Given the description of an element on the screen output the (x, y) to click on. 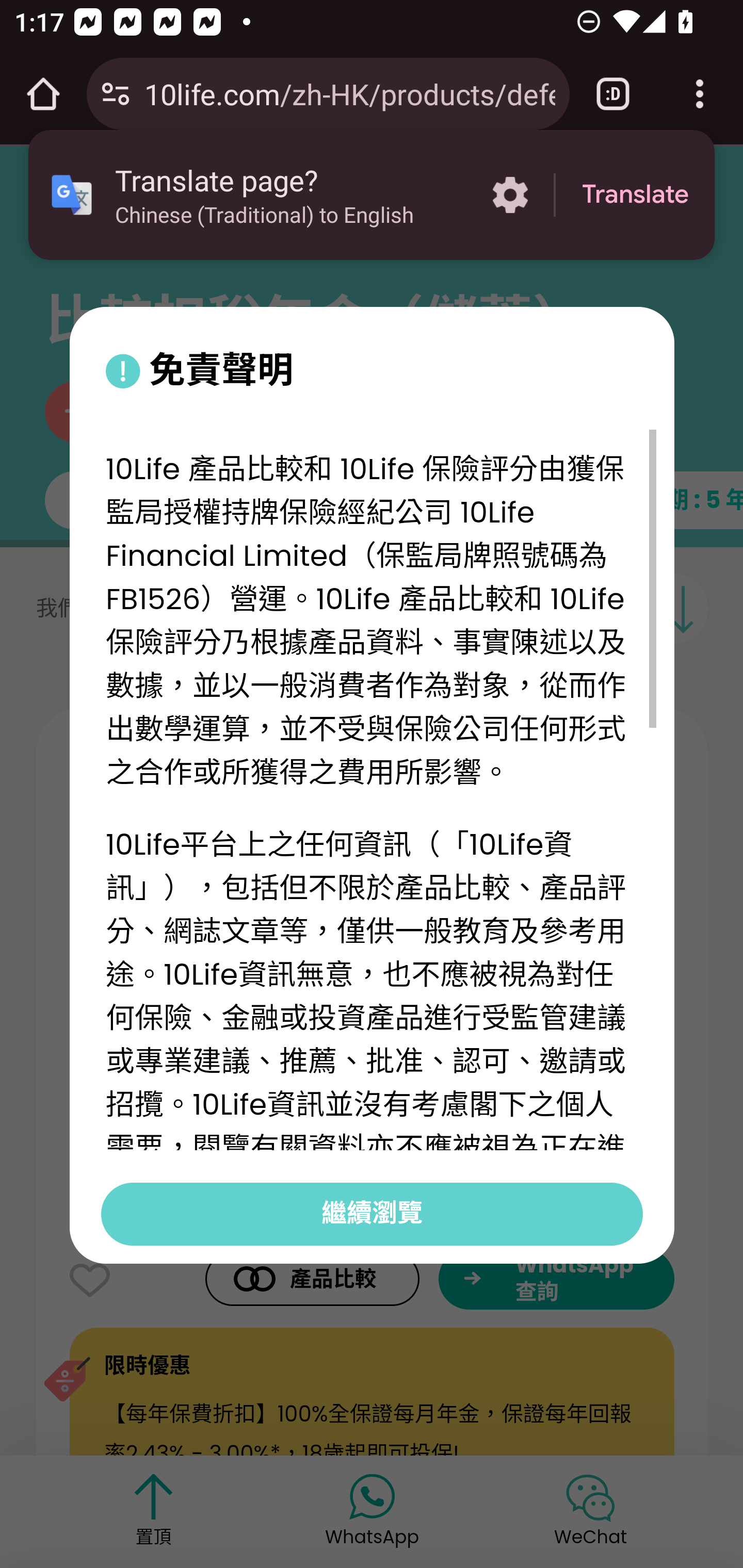
Open the home page (43, 93)
Connection is secure (115, 93)
Switch or close tabs (612, 93)
Customize and control Google Chrome (699, 93)
Translate (634, 195)
More options in the Translate page? (509, 195)
繼續瀏覽 (371, 1212)
